Given the description of an element on the screen output the (x, y) to click on. 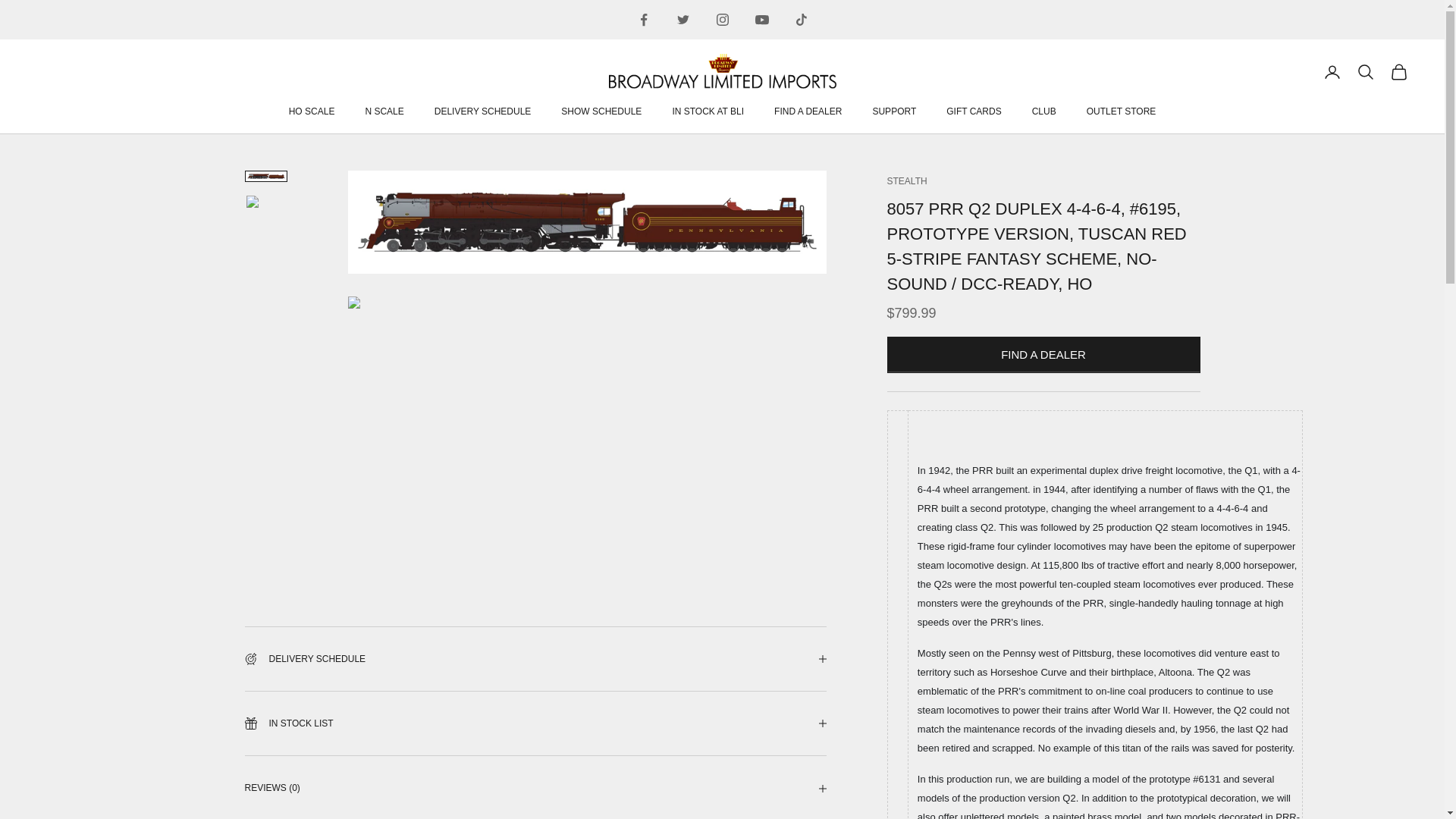
Broadway Limited Imports (721, 71)
IN STOCK AT BLI (707, 111)
FIND A DEALER (807, 111)
DELIVERY SCHEDULE (482, 111)
SHOW SCHEDULE (601, 111)
